Given the description of an element on the screen output the (x, y) to click on. 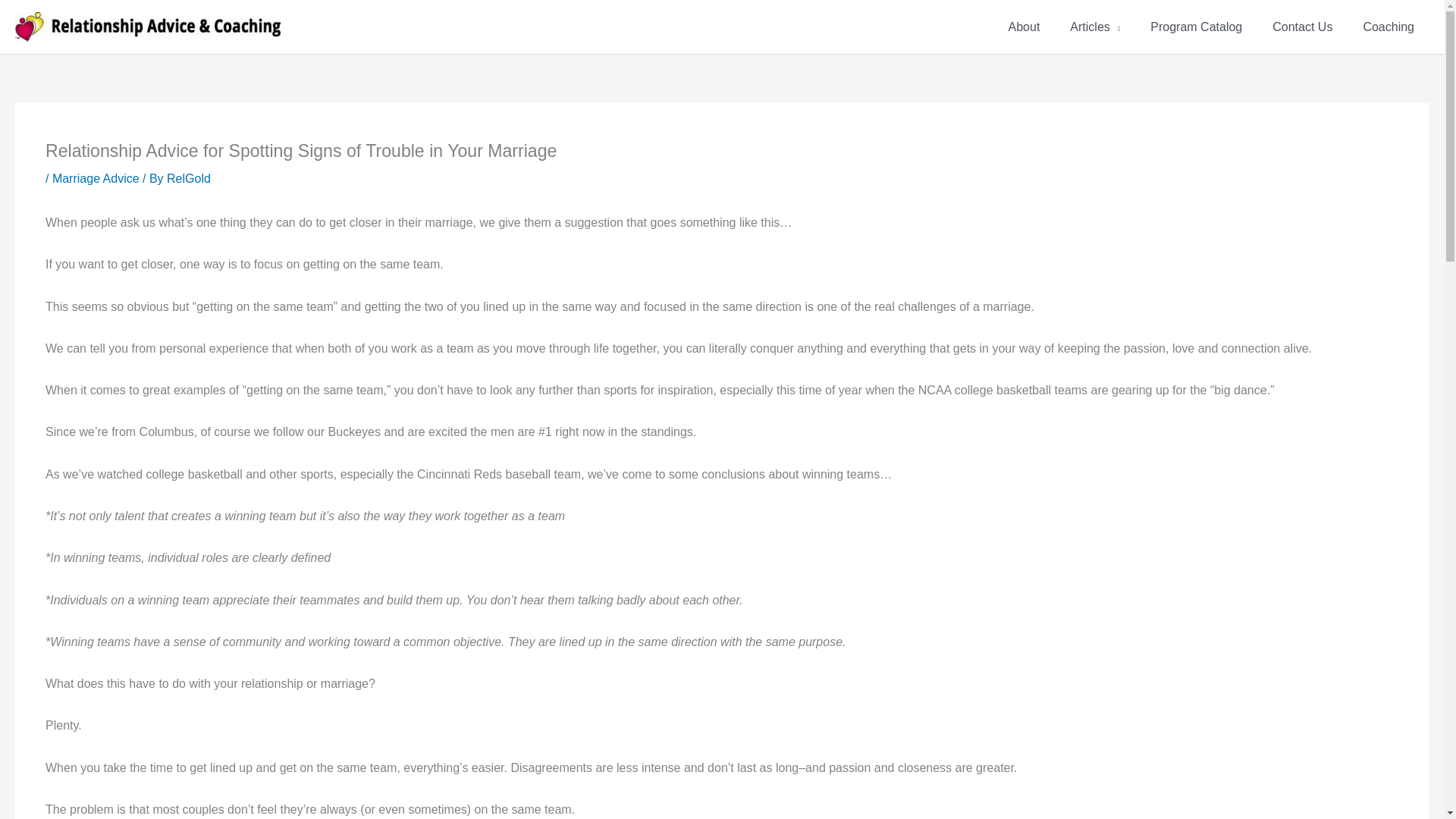
Contact Us (1302, 27)
Coaching (1388, 27)
About (1023, 27)
Program Catalog (1196, 27)
RelGold (189, 178)
Articles (1094, 27)
Marriage Advice (95, 178)
View all posts by RelGold (189, 178)
